Given the description of an element on the screen output the (x, y) to click on. 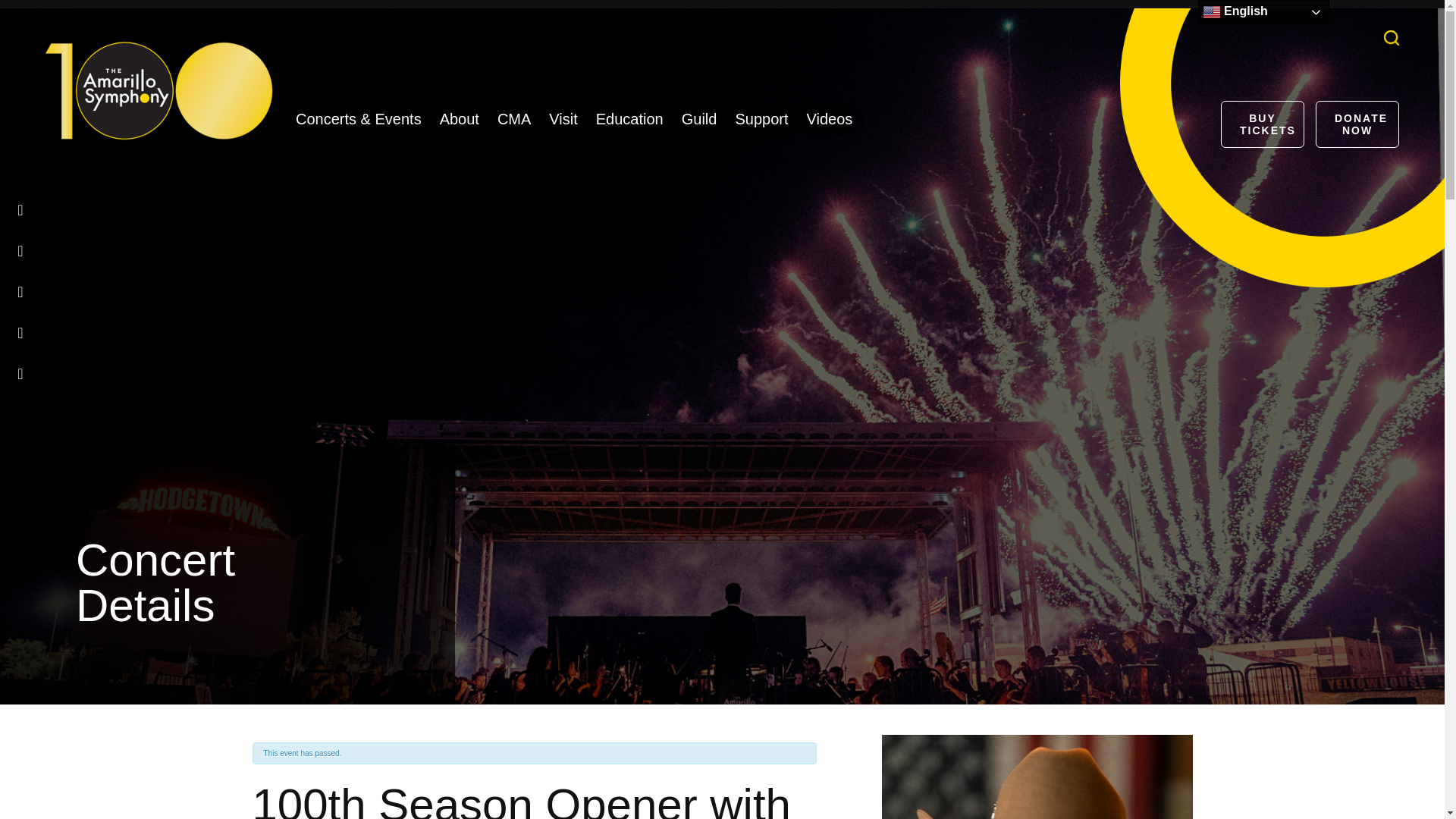
Videos (829, 118)
DONATE NOW (1357, 124)
CMA (514, 118)
About (459, 118)
Support (761, 118)
Visit (562, 118)
BUY TICKETS (1262, 124)
Guild (699, 118)
Education (629, 118)
